Given the description of an element on the screen output the (x, y) to click on. 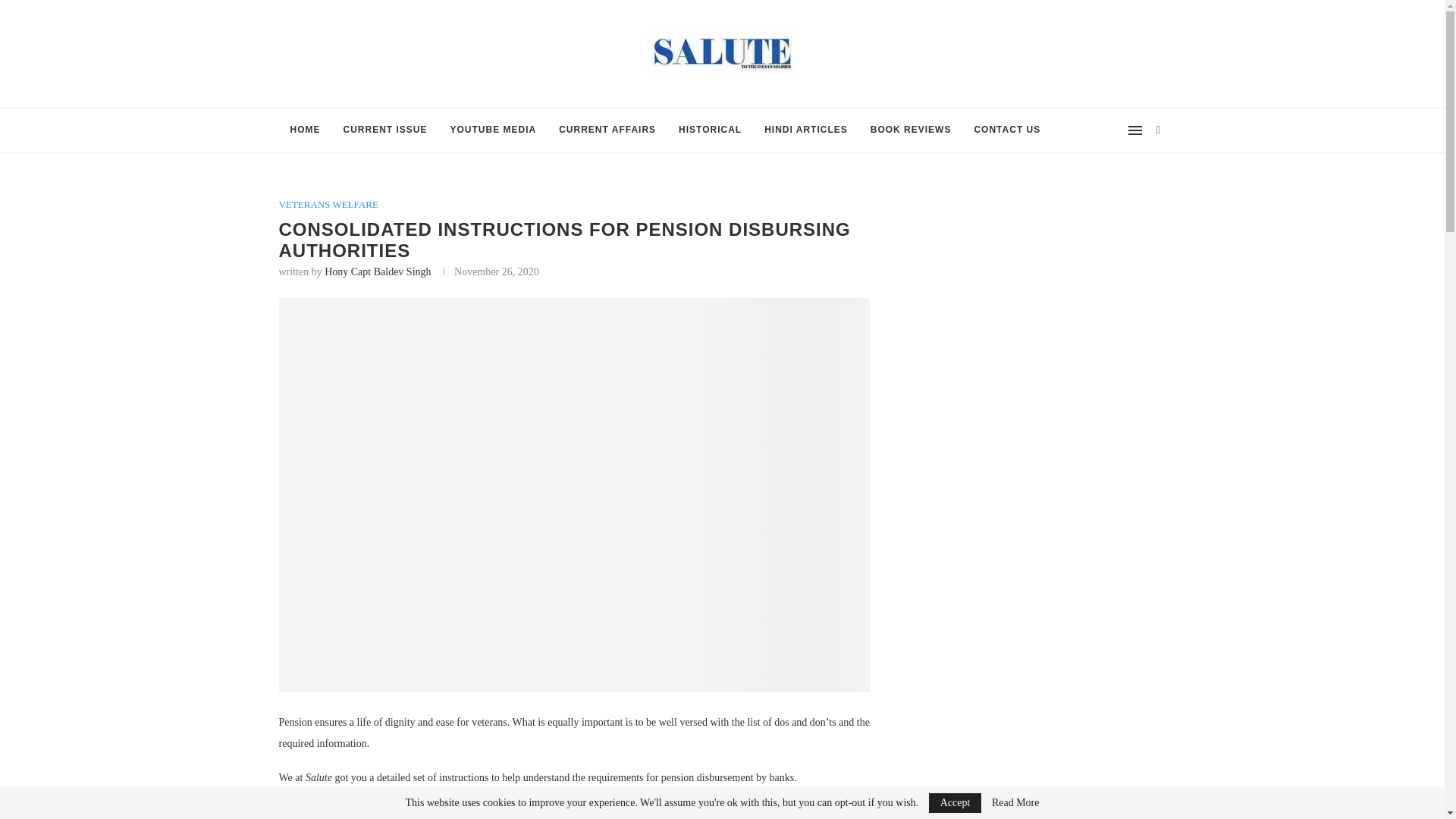
HINDI ARTICLES (805, 130)
Hony Capt Baldev Singh (377, 271)
CURRENT ISSUE (385, 130)
CURRENT AFFAIRS (606, 130)
YOUTUBE MEDIA (493, 130)
VETERANS WELFARE (328, 204)
HISTORICAL (709, 130)
BOOK REVIEWS (910, 130)
HOME (305, 130)
CONTACT US (1006, 130)
